Given the description of an element on the screen output the (x, y) to click on. 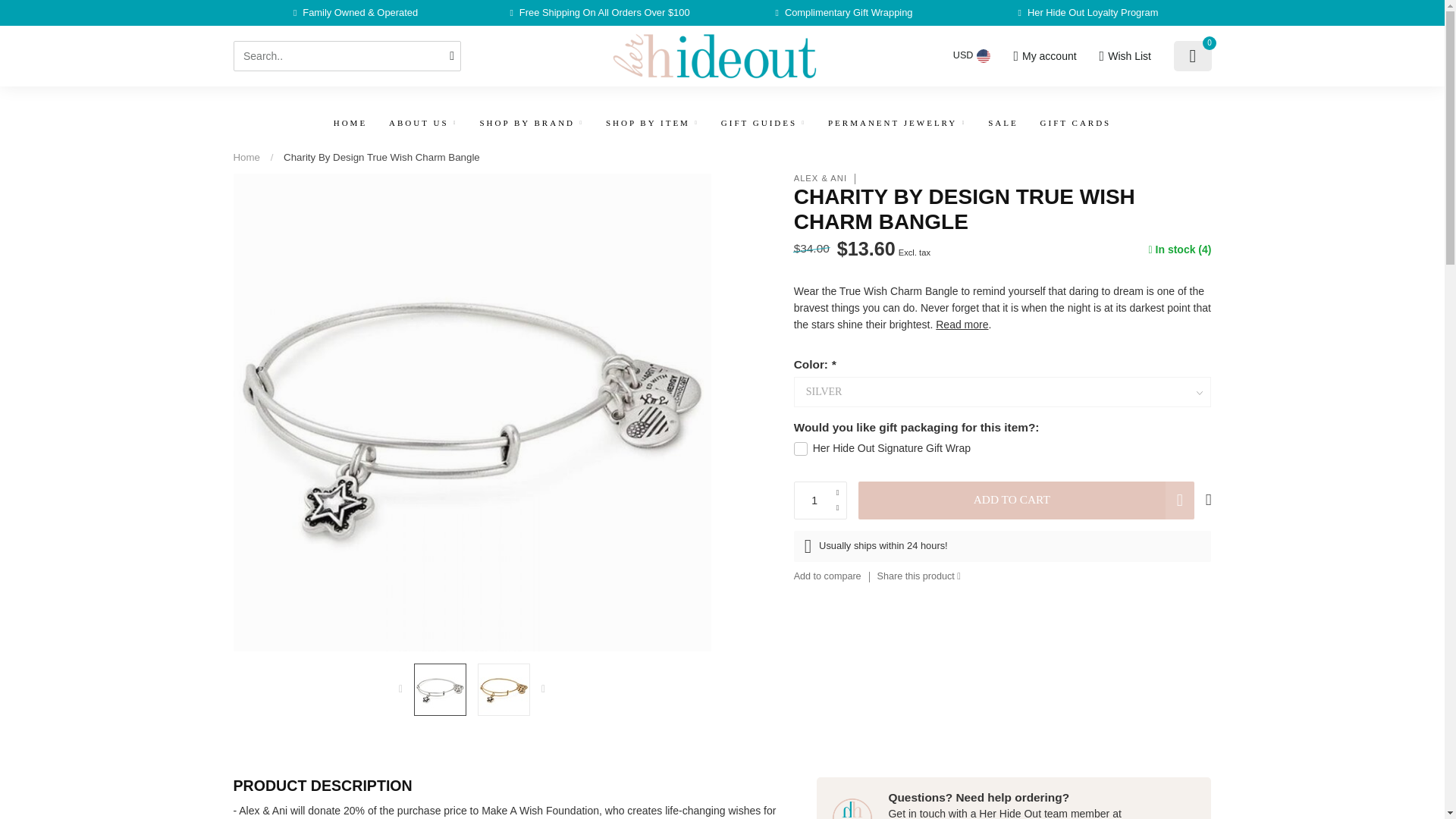
My account (1044, 55)
1 (820, 500)
Wish List (1124, 55)
ABOUT US (423, 122)
Wish List (1124, 55)
HOME (349, 122)
1 (1060, 244)
SHOP BY BRAND (531, 122)
Home (246, 156)
0 (1192, 55)
